Given the description of an element on the screen output the (x, y) to click on. 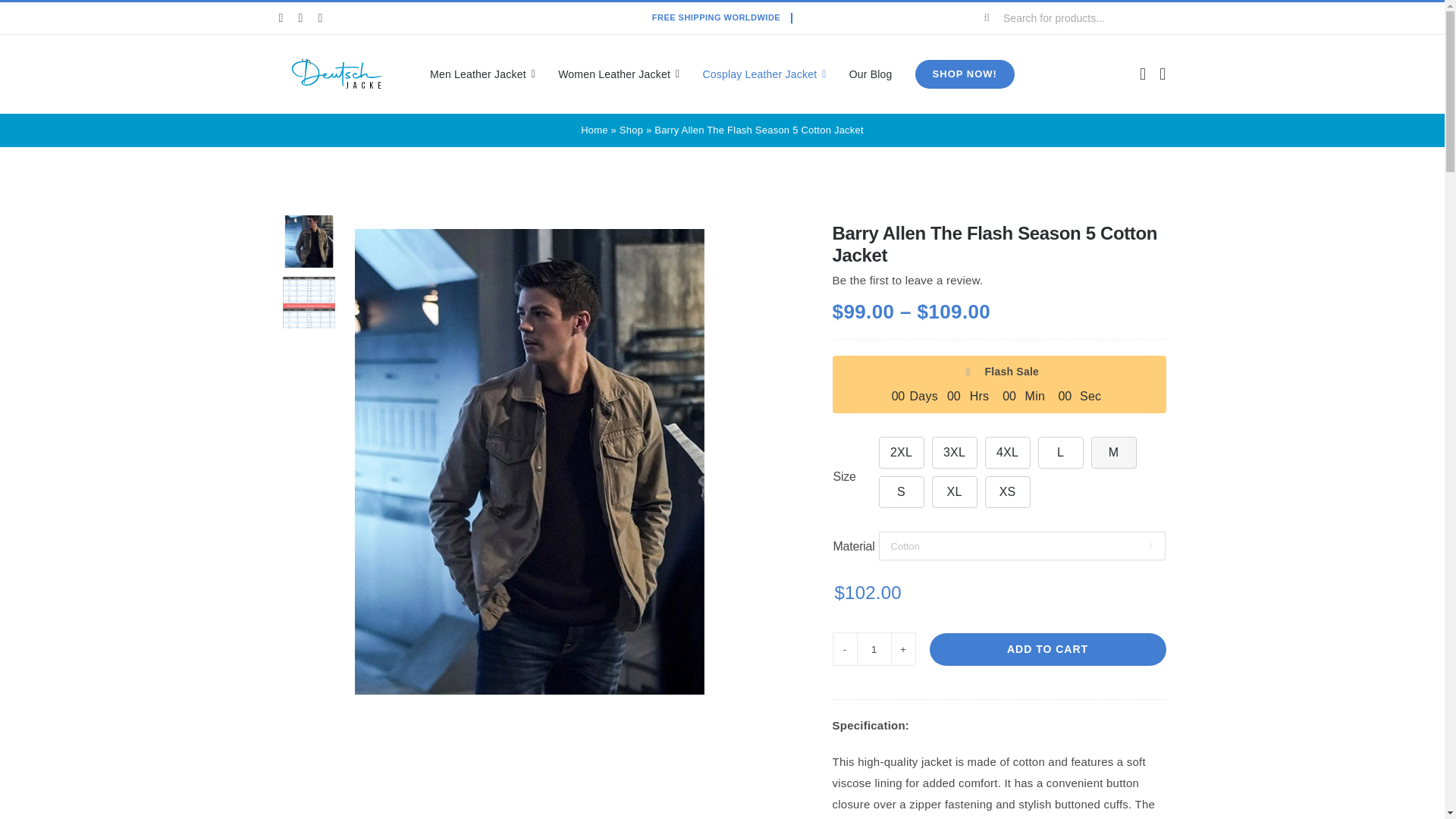
Cosplay Leather Jacket (763, 74)
Our Blog (870, 74)
Women Leather Jacket (618, 74)
Men Leather Jacket (482, 74)
1 (874, 648)
